Given the description of an element on the screen output the (x, y) to click on. 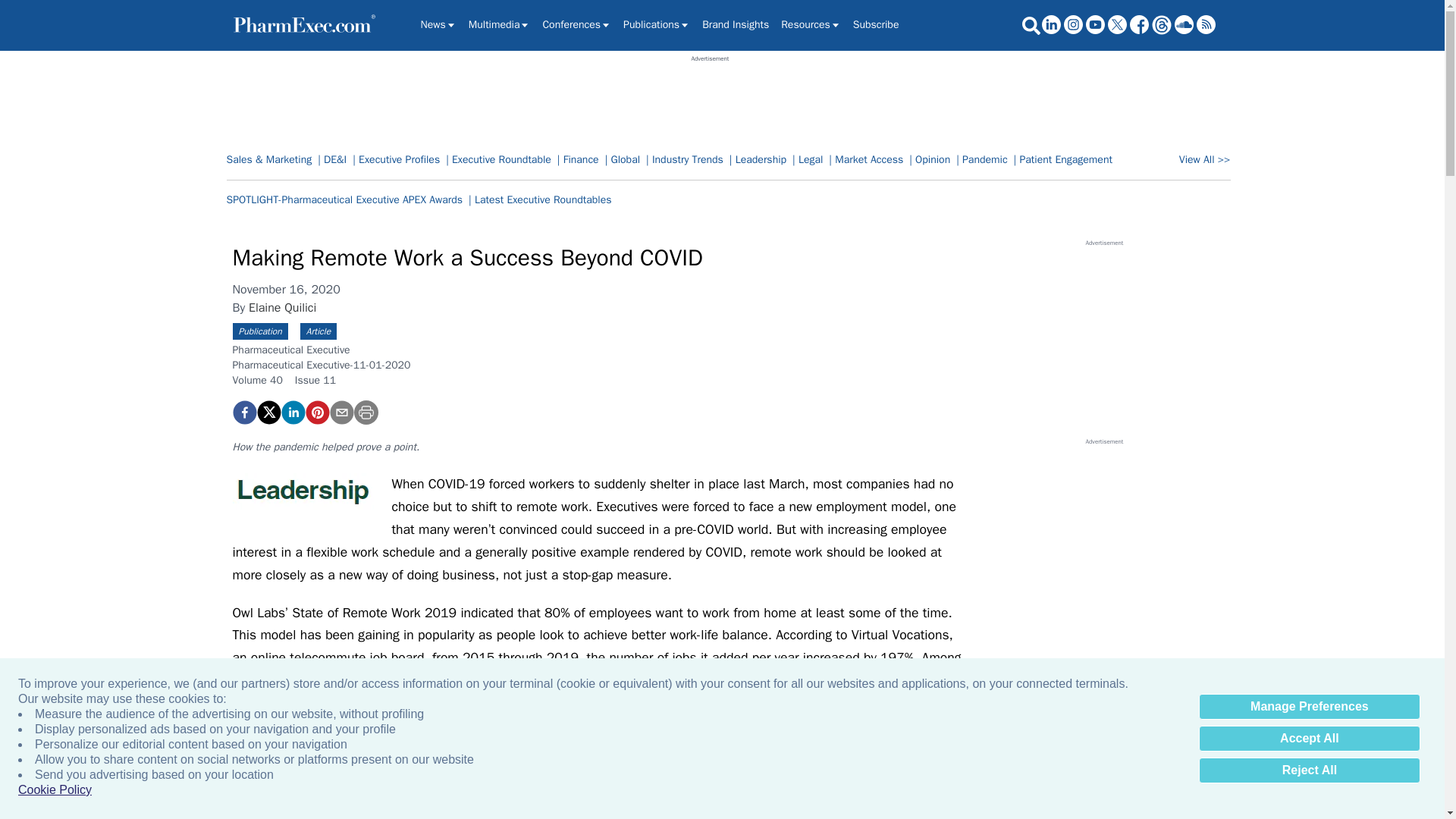
Making Remote Work a Success Beyond COVID (243, 412)
Cookie Policy (54, 789)
Reject All (1309, 769)
Accept All (1309, 738)
Manage Preferences (1309, 706)
3rd party ad content (709, 97)
Subscribe (876, 23)
Brand Insights (734, 23)
Making Remote Work a Success Beyond COVID (316, 412)
